Given the description of an element on the screen output the (x, y) to click on. 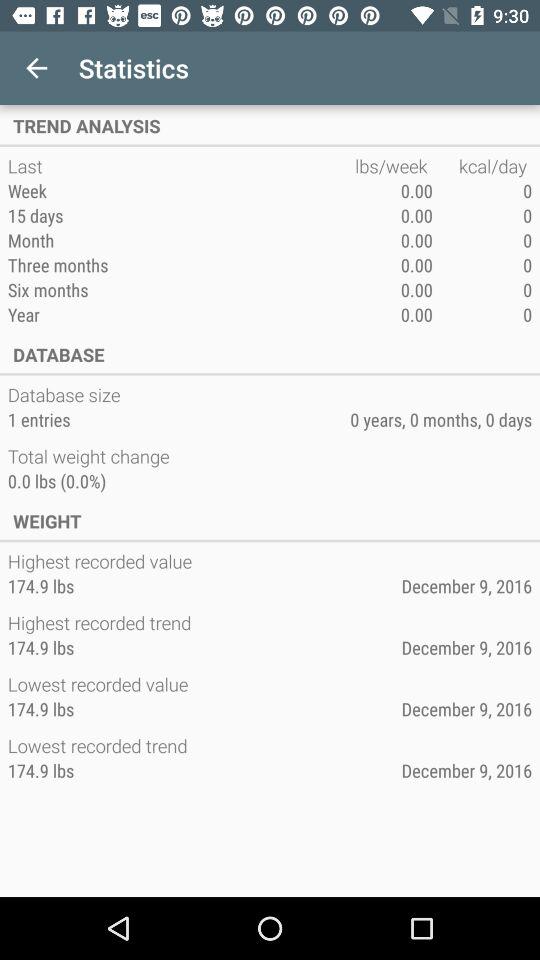
turn on the icon below 15 days item (181, 239)
